Given the description of an element on the screen output the (x, y) to click on. 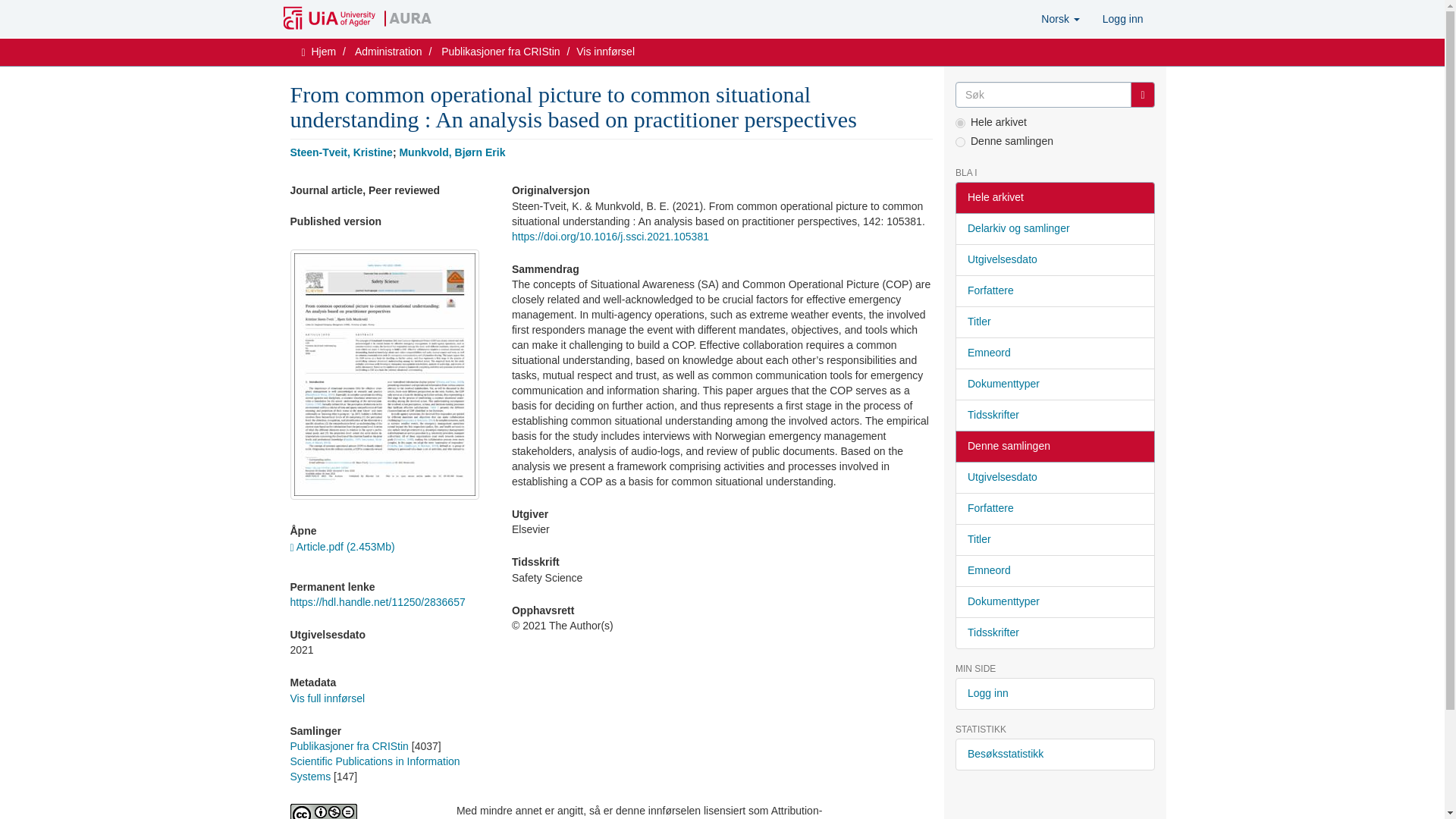
Utgivelsesdato (1054, 260)
Logg inn (1122, 18)
Attribution-NonCommercial-NoDerivatives 4.0 Internasjonal (360, 811)
Publikasjoner fra CRIStin (500, 51)
Steen-Tveit, Kristine (340, 152)
Administration (388, 51)
Hjem (323, 51)
Publikasjoner fra CRIStin (348, 746)
Hele arkivet (1054, 197)
Forfattere (1054, 291)
Scientific Publications in Information Systems (374, 768)
Delarkiv og samlinger (1054, 228)
Norsk  (1059, 18)
